Given the description of an element on the screen output the (x, y) to click on. 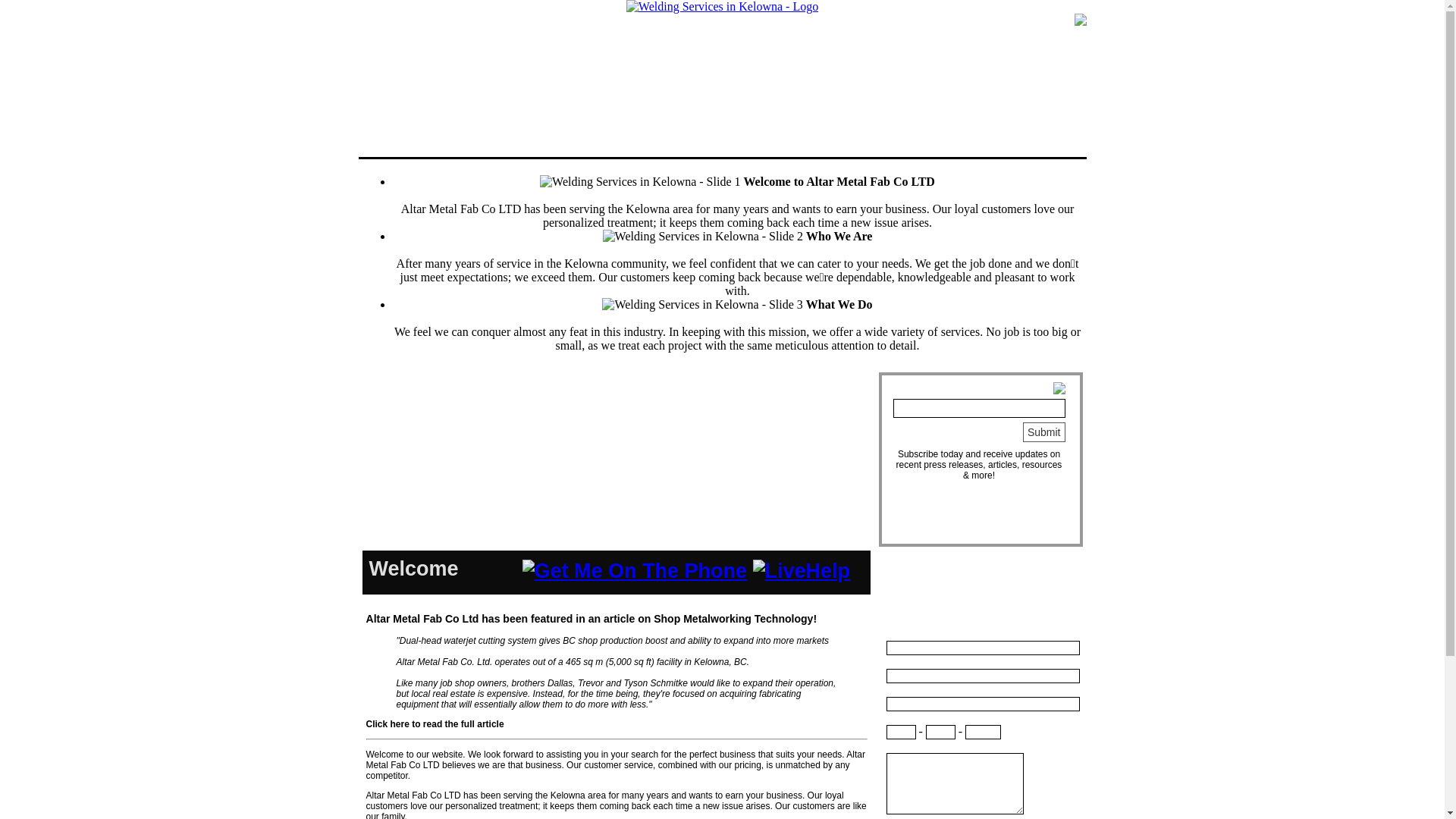
Links Element type: text (793, 26)
Careers Element type: text (887, 26)
Gallery Element type: text (699, 26)
About Element type: text (511, 26)
Click here to read the full article Element type: text (434, 723)
Submit Element type: text (1043, 432)
Home Element type: text (417, 26)
Contact Us Element type: text (981, 26)
Services Element type: text (605, 26)
